Given the description of an element on the screen output the (x, y) to click on. 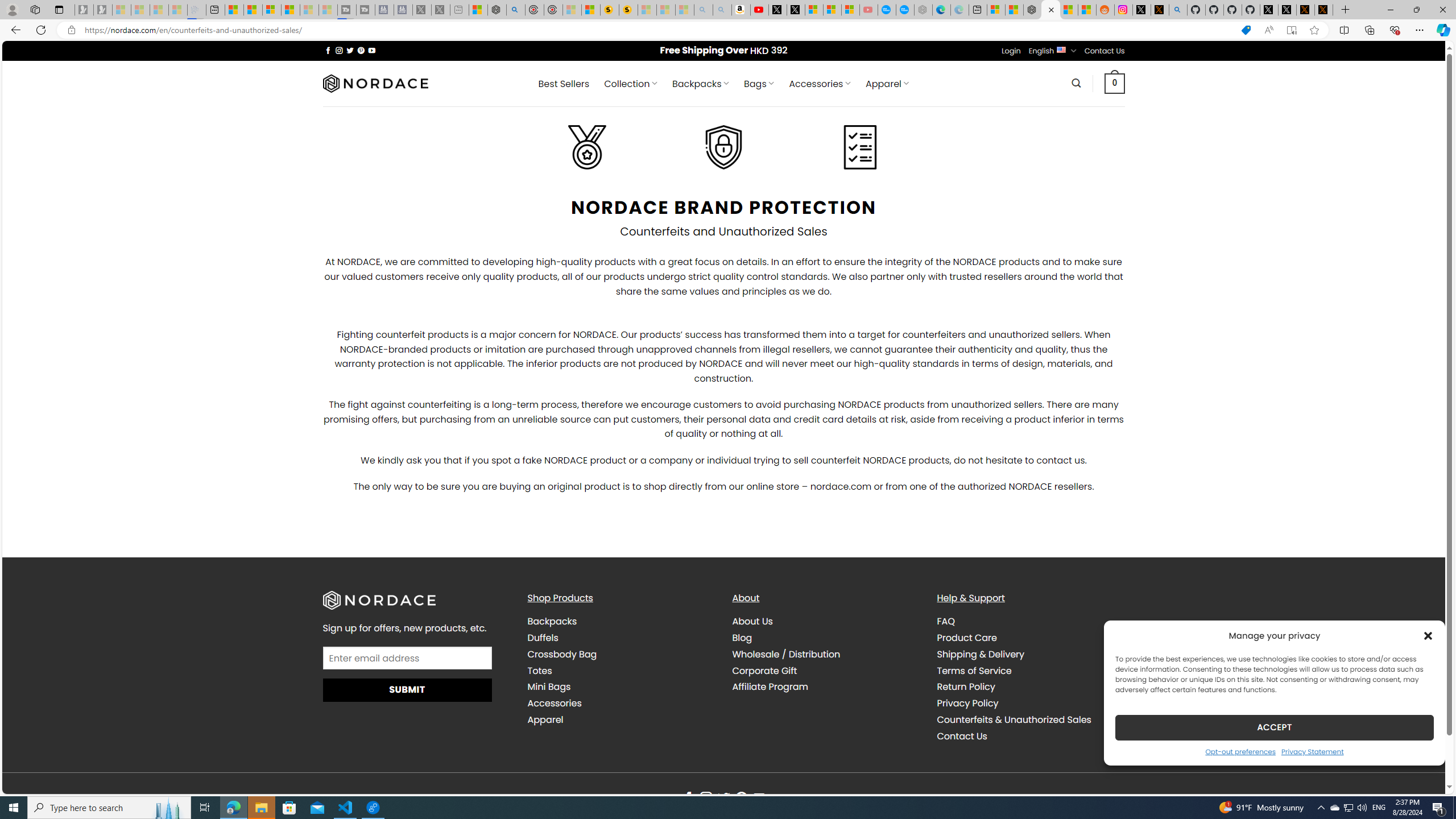
Totes (539, 670)
  0   (1115, 83)
Class: cmplz-close (1428, 635)
About Us (826, 621)
Day 1: Arriving in Yemen (surreal to be here) - YouTube (759, 9)
Profile / X (1268, 9)
Shipping & Delivery (1030, 654)
Return Policy (965, 686)
Newsletter Sign Up - Sleeping (102, 9)
Mini Bags (548, 686)
Product Care (1030, 637)
Go to top (1421, 777)
